Given the description of an element on the screen output the (x, y) to click on. 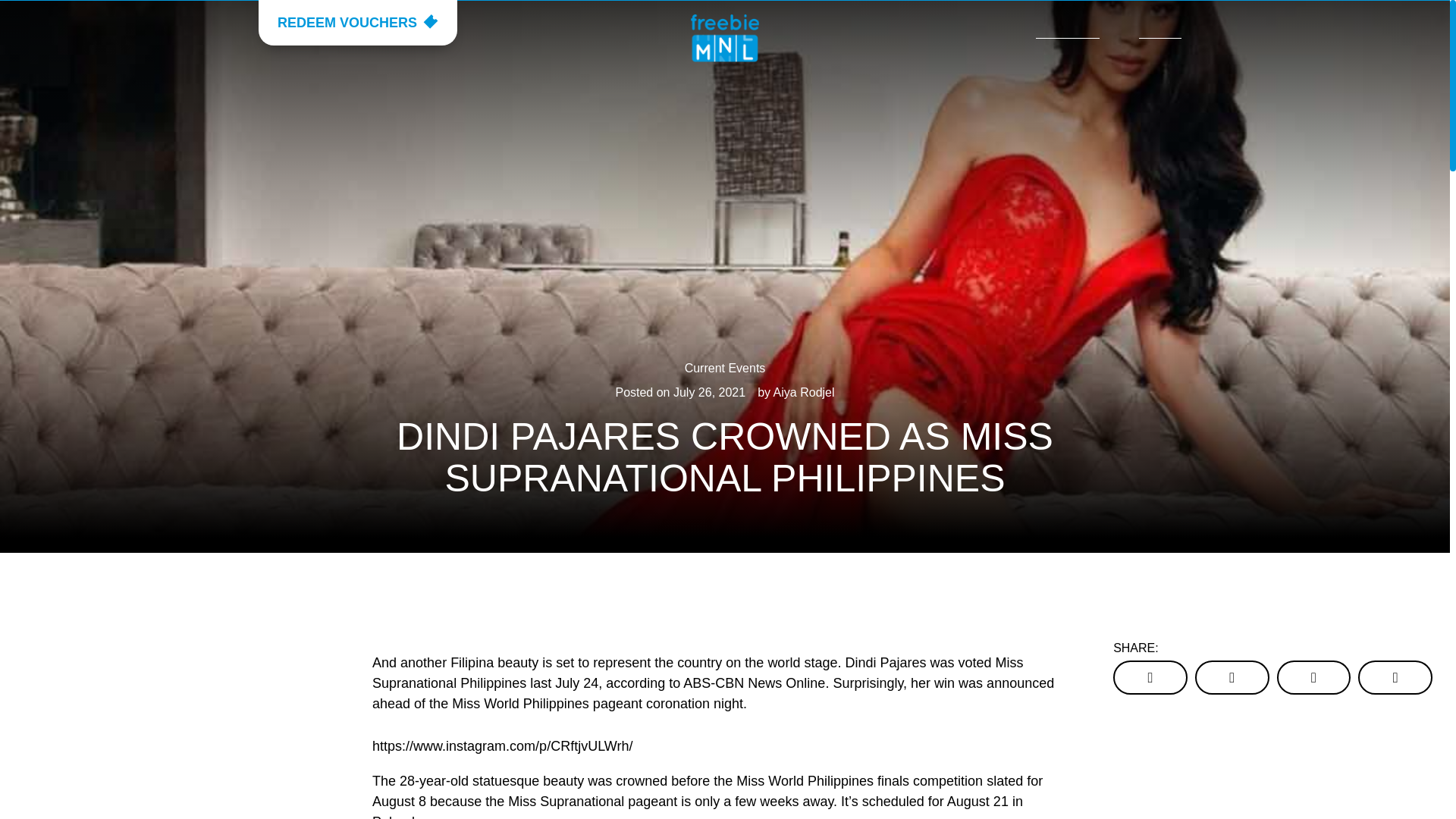
REDEEM VOUCHERS (358, 22)
MENU (1164, 30)
SEARCH (1067, 30)
